Given the description of an element on the screen output the (x, y) to click on. 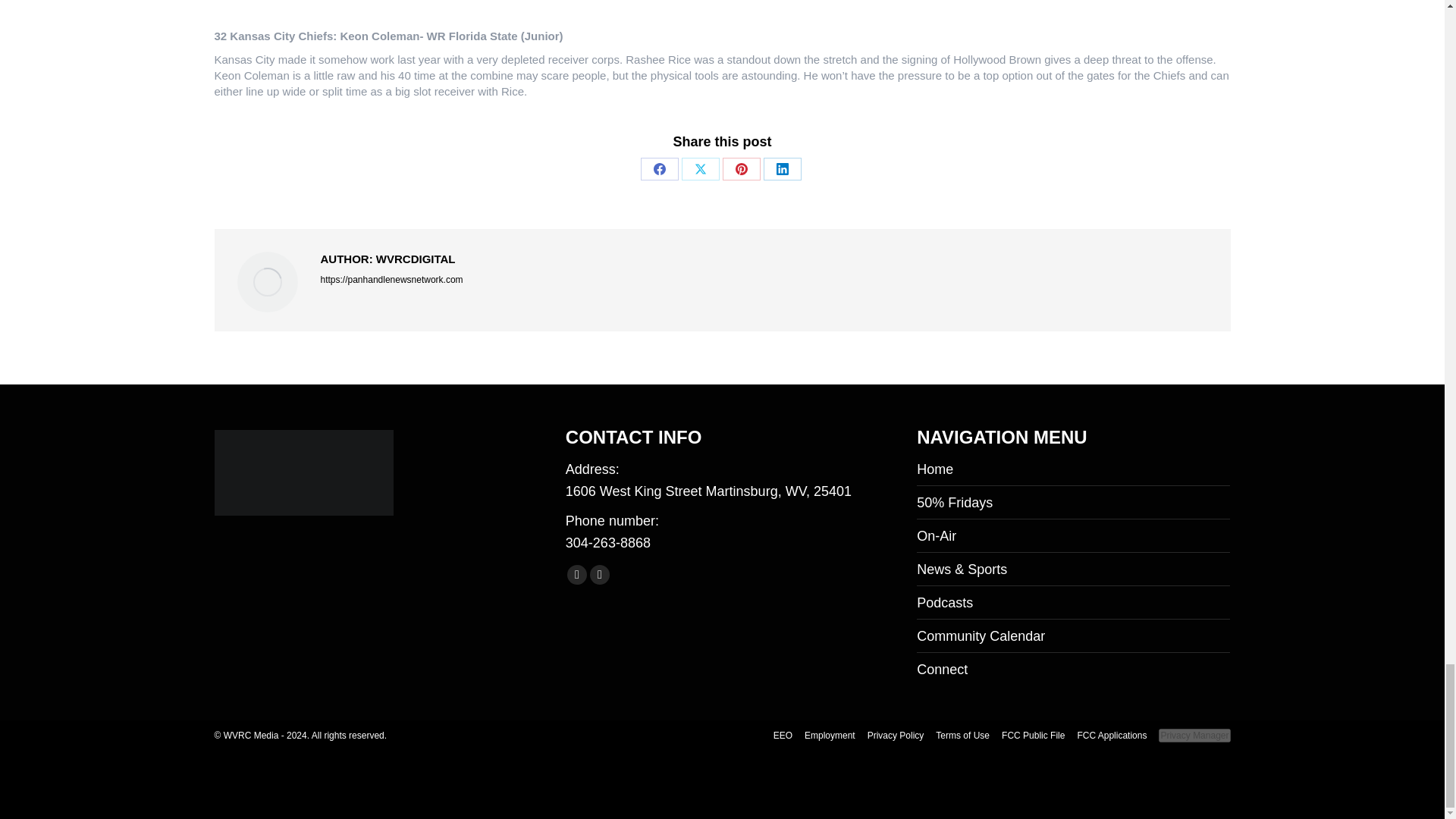
X page opens in new window (599, 574)
LinkedIn (781, 169)
Pinterest (741, 169)
Facebook (659, 169)
X (700, 169)
Facebook page opens in new window (576, 574)
